Given the description of an element on the screen output the (x, y) to click on. 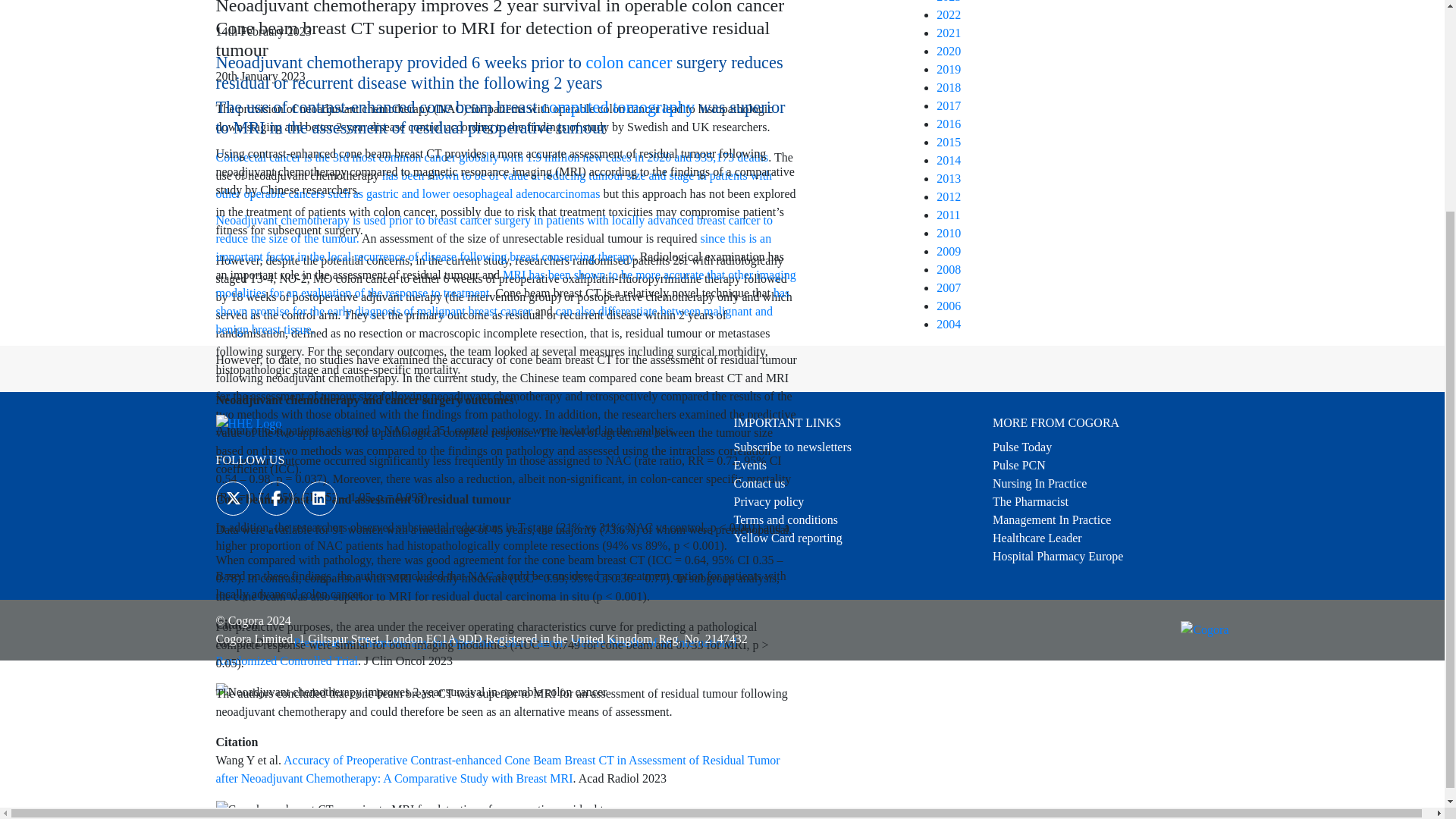
computed tomography (619, 107)
Management In Practice (1051, 519)
Yellow Card reporting (788, 537)
Pulse Today (1021, 446)
Healthcare Leader (1036, 537)
Subscribe to newsletters (792, 446)
Privacy policy (769, 501)
The Pharmacist (1030, 501)
